Given the description of an element on the screen output the (x, y) to click on. 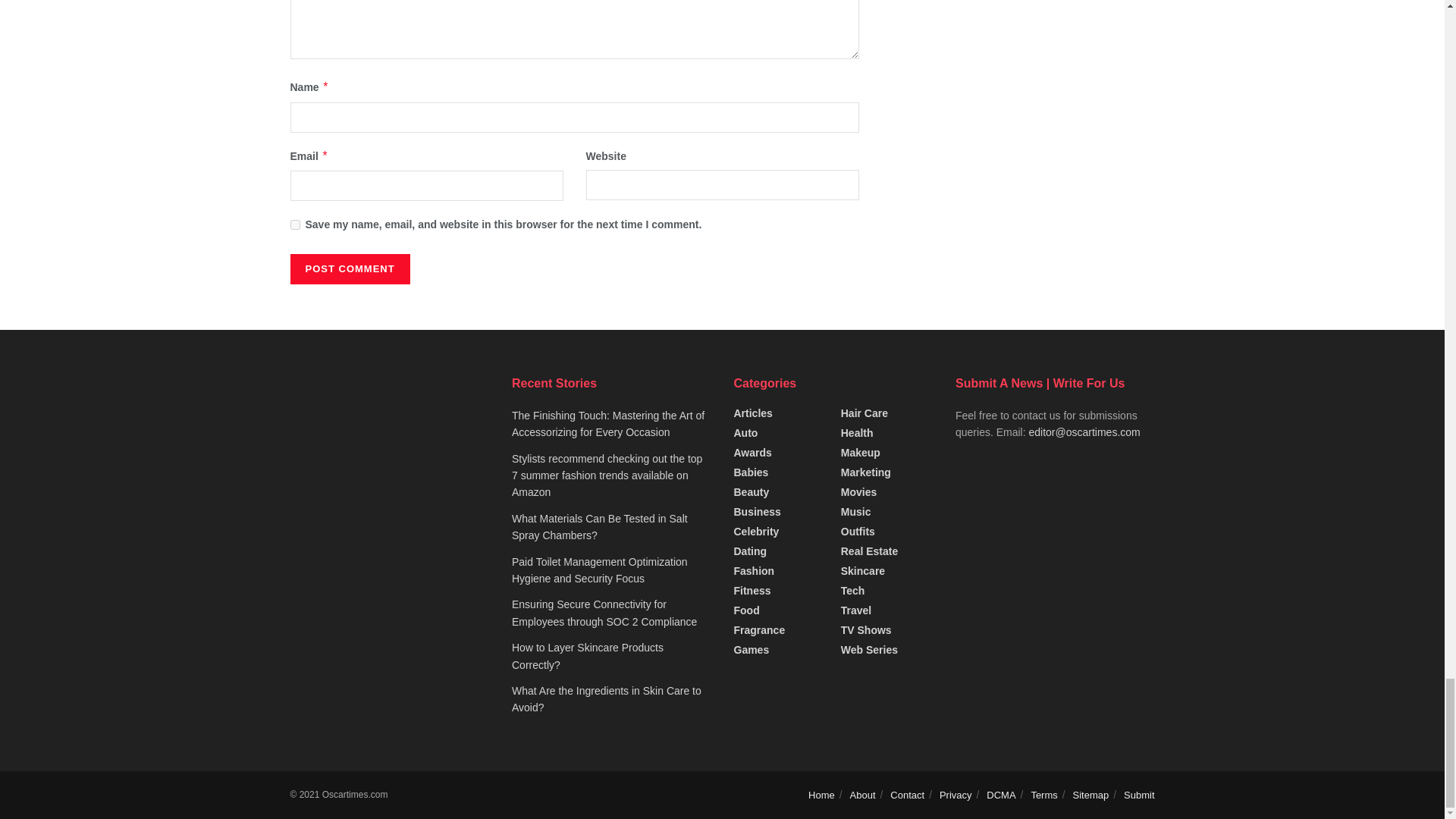
Post Comment (349, 268)
yes (294, 225)
